Given the description of an element on the screen output the (x, y) to click on. 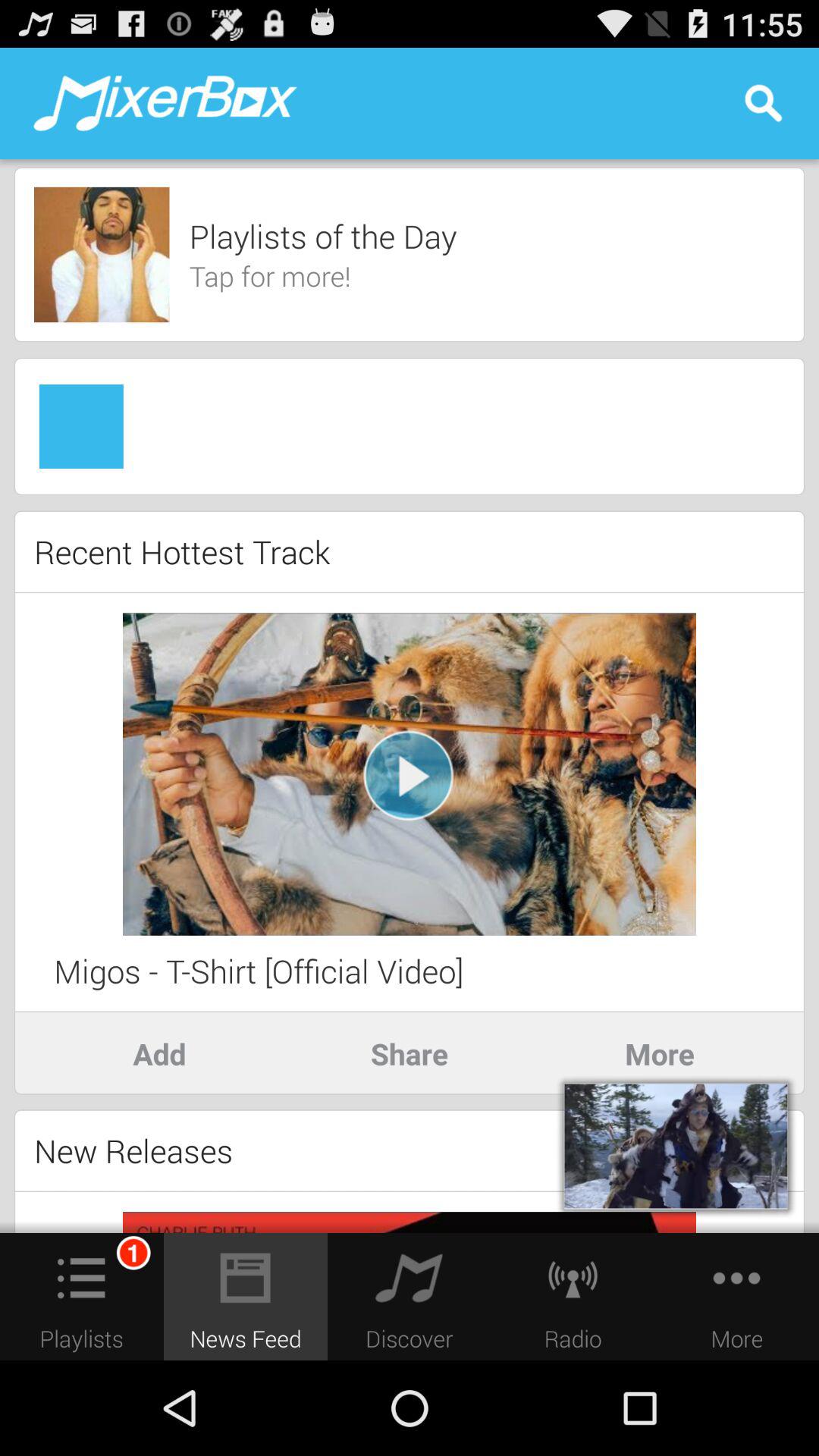
turn off the icon to the left of the share app (159, 1053)
